Given the description of an element on the screen output the (x, y) to click on. 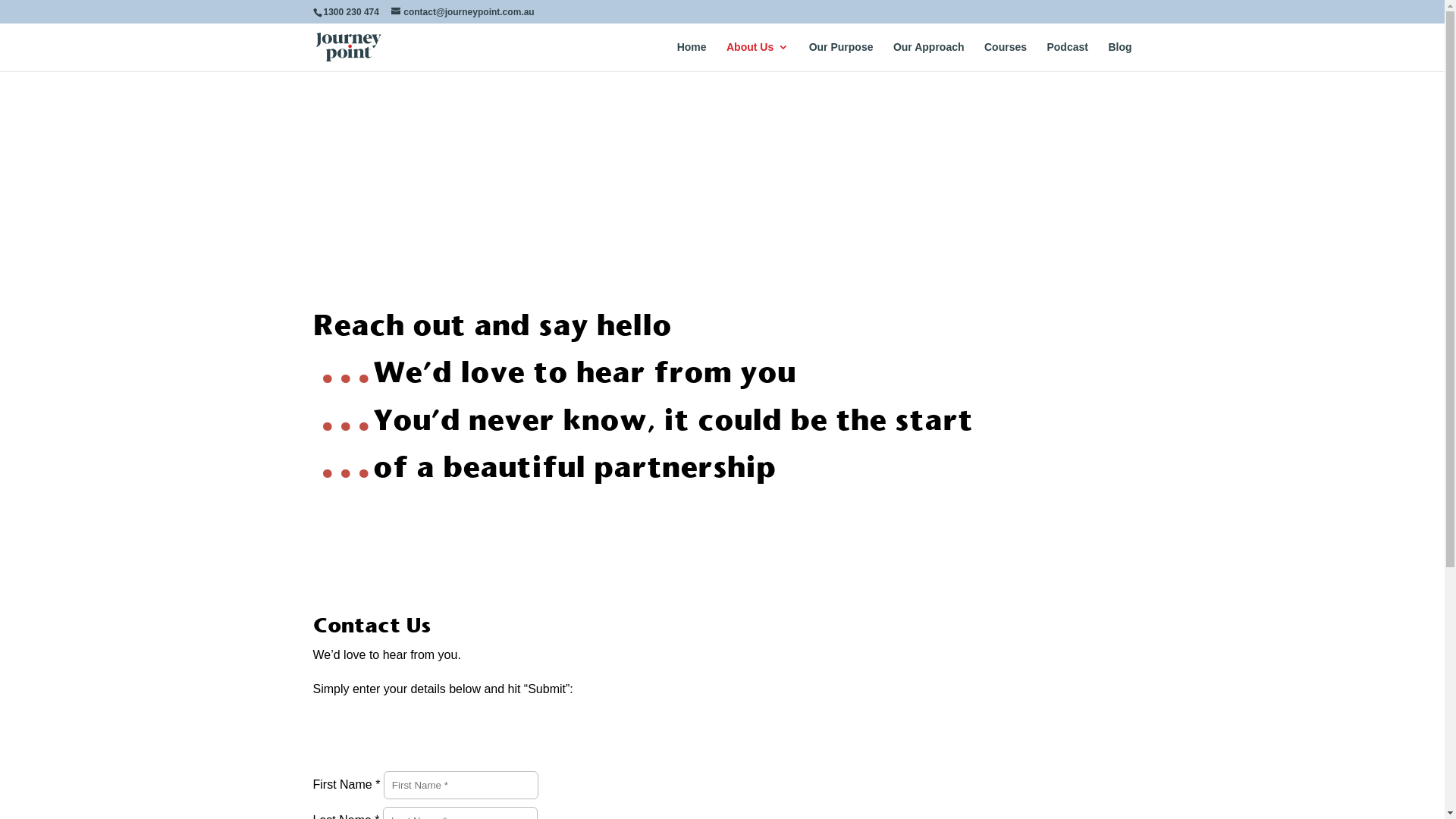
Podcast Element type: text (1066, 56)
Blog Element type: text (1119, 56)
Home Element type: text (691, 56)
Our Approach Element type: text (928, 56)
contact@journeypoint.com.au Element type: text (462, 11)
Courses Element type: text (1005, 56)
About Us Element type: text (757, 56)
Our Purpose Element type: text (841, 56)
